Given the description of an element on the screen output the (x, y) to click on. 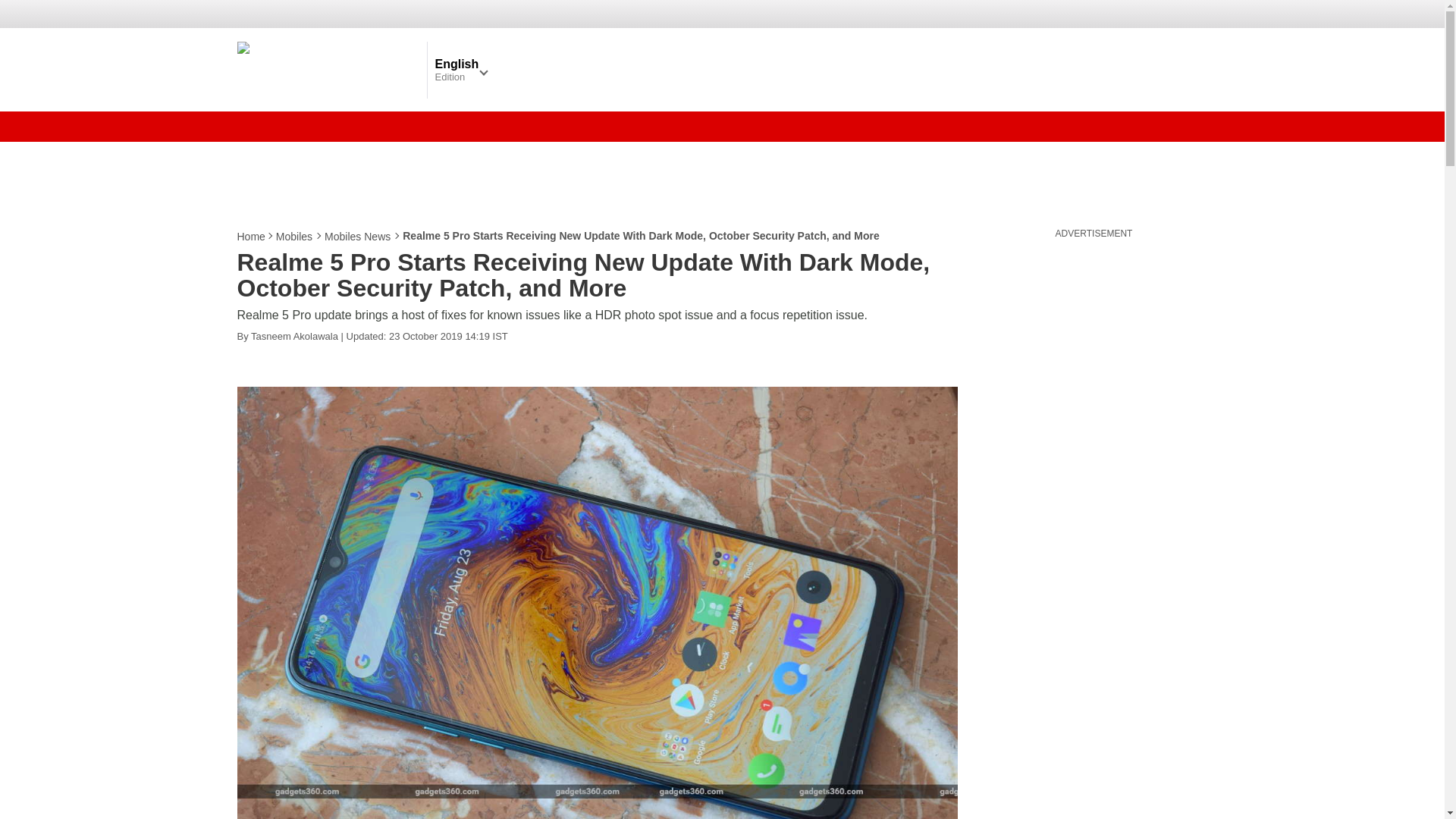
Home (250, 236)
Mobiles News (357, 236)
Home (250, 236)
Gadgets 360 (327, 68)
Mobiles (295, 236)
Mobiles News (357, 236)
Mobiles (295, 236)
